Given the description of an element on the screen output the (x, y) to click on. 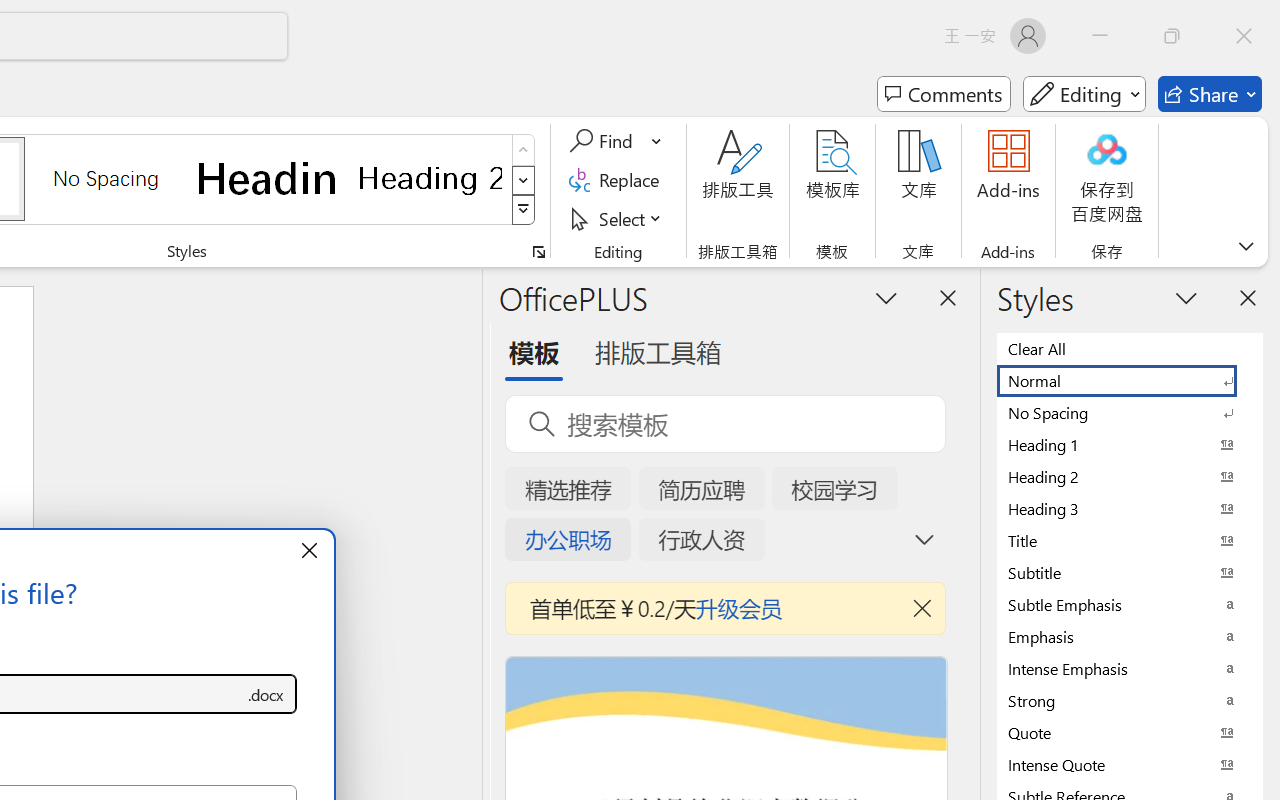
Ribbon Display Options (1246, 245)
Styles... (538, 252)
Heading 3 (1130, 508)
Mode (1083, 94)
Row Down (523, 180)
Clear All (1130, 348)
